Given the description of an element on the screen output the (x, y) to click on. 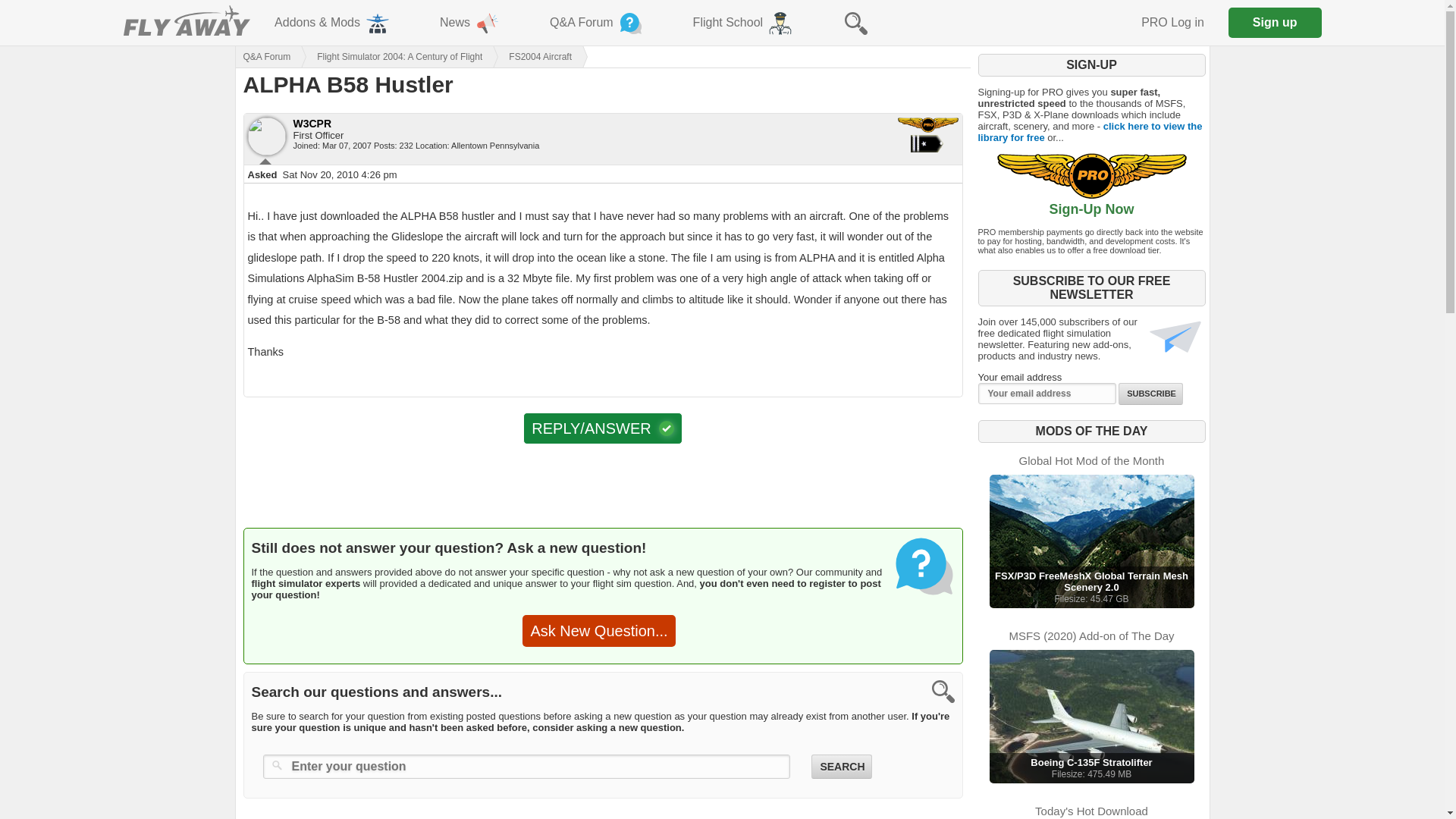
News (469, 22)
Search (840, 766)
Flight Simulator 2004: A Century of Flight (385, 56)
Sign-Up Now (1090, 203)
Ask New Question... (598, 631)
click here to view the library for free (1090, 131)
PRO Log in (1172, 22)
Pro Member (928, 124)
Sign up (1090, 716)
Login to your Fly Away Simulation account (1275, 22)
Subscribe (1172, 22)
Search Fly Away Simulation for add-ons and content. (1150, 393)
Flight simulation and related news topics (855, 22)
